Given the description of an element on the screen output the (x, y) to click on. 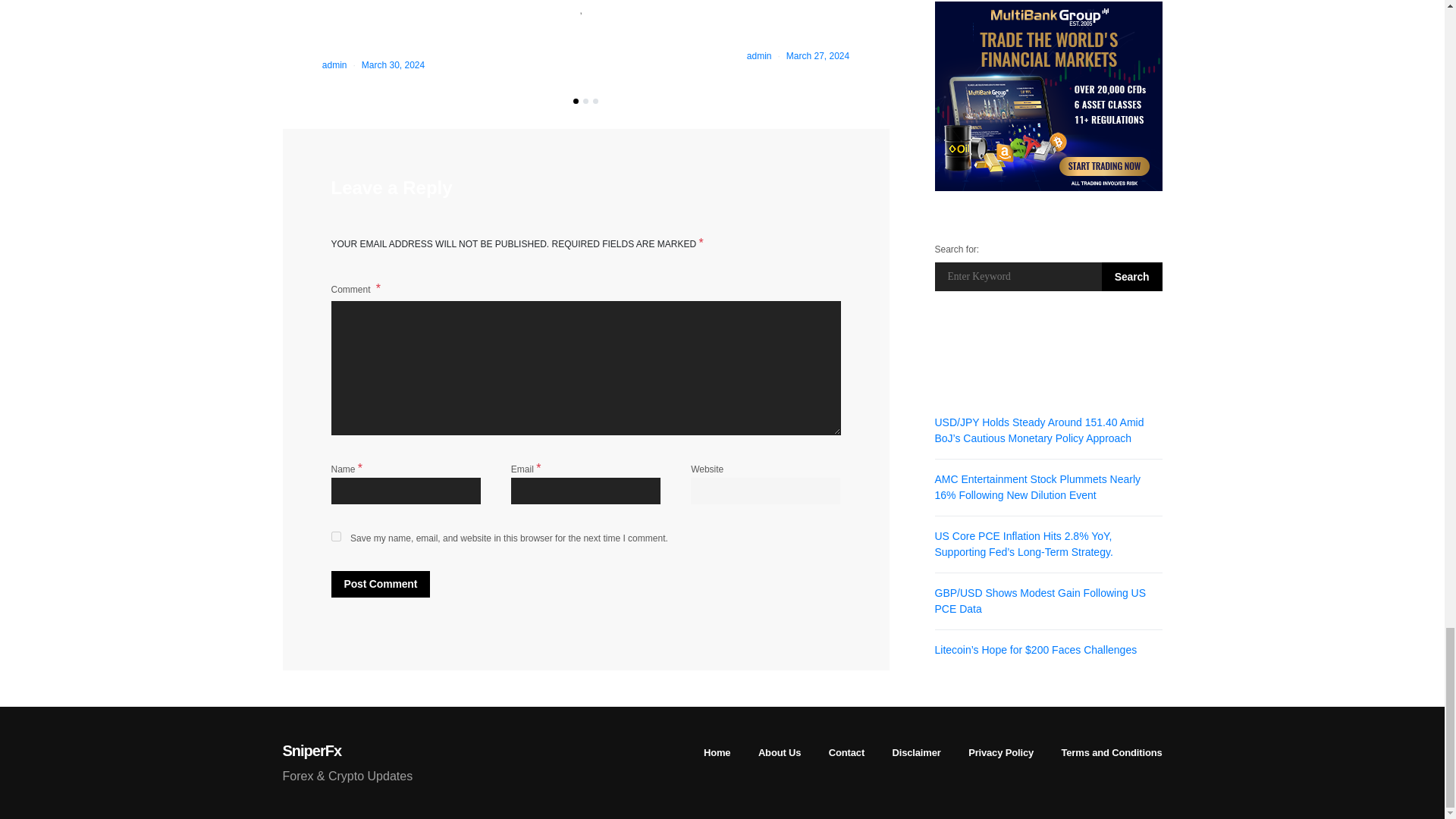
View all posts by admin (758, 55)
yes (335, 536)
Post Comment (379, 583)
View all posts by admin (334, 64)
